Given the description of an element on the screen output the (x, y) to click on. 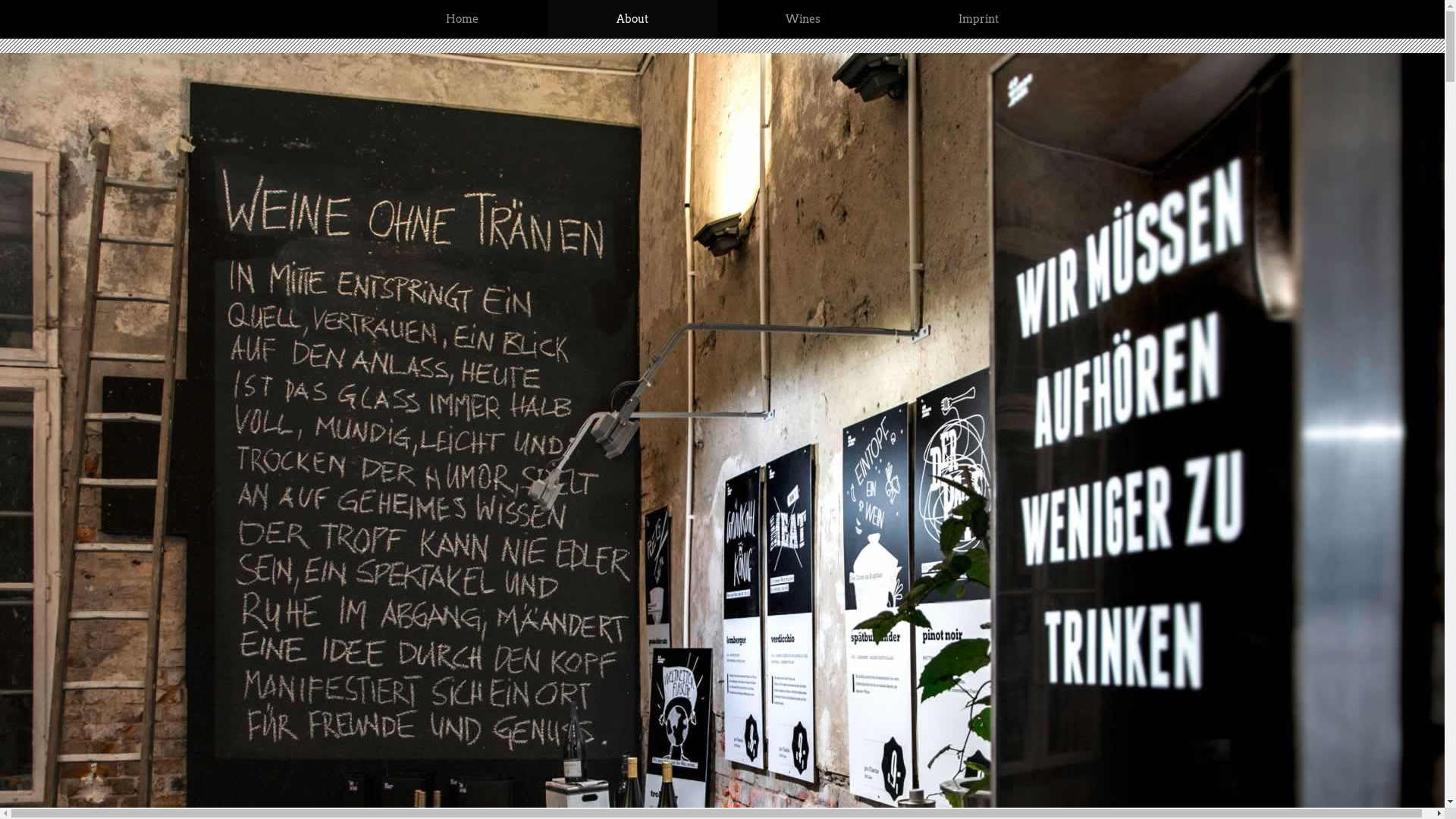
About Element type: text (632, 18)
Home Element type: text (462, 18)
Imprint Element type: text (978, 18)
Wines Element type: text (803, 18)
